Given the description of an element on the screen output the (x, y) to click on. 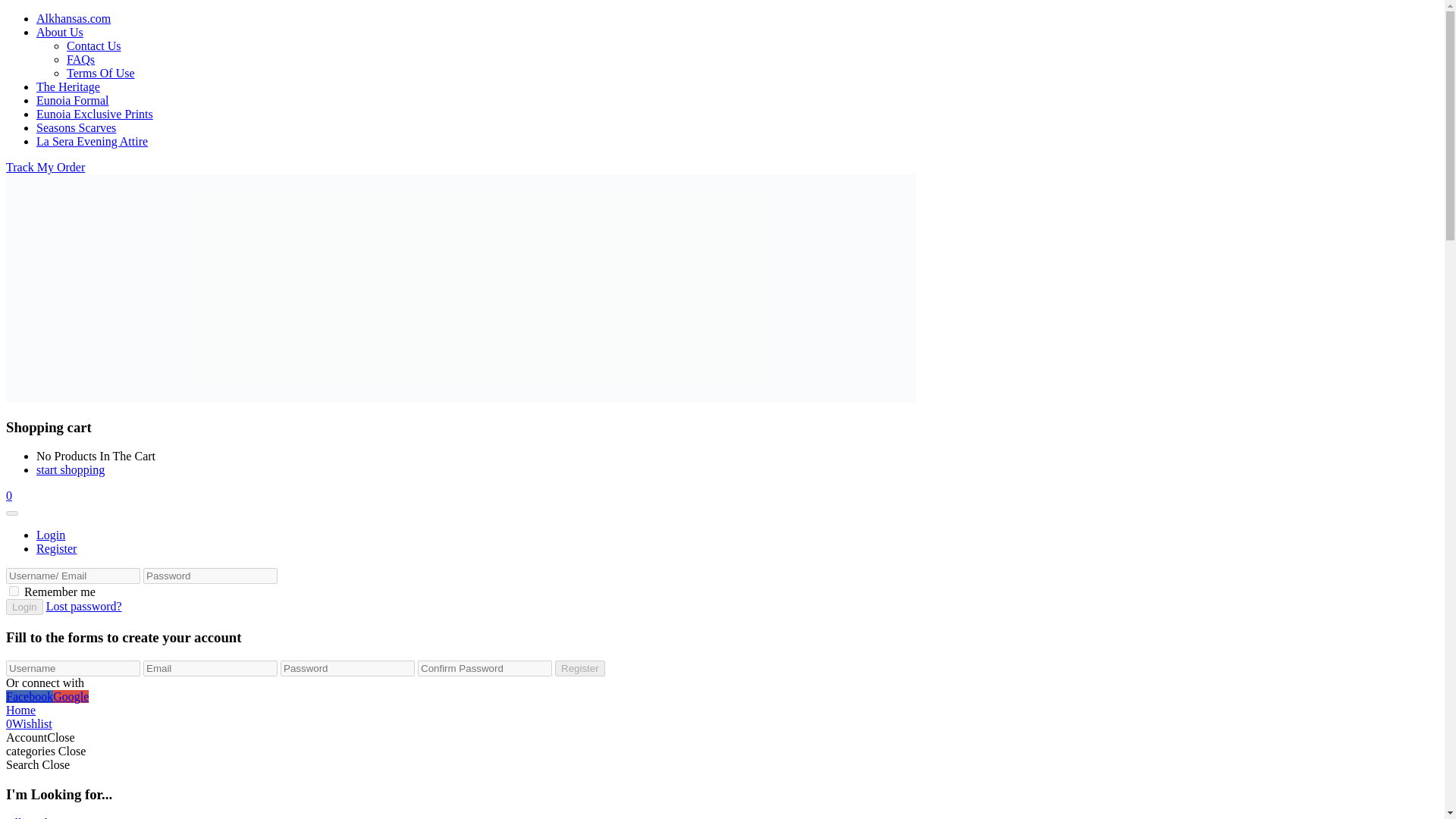
La Sera Evening Attire (92, 141)
Eunoia Formal (72, 100)
Google (70, 696)
AccountClose (40, 737)
FAQs (80, 59)
Login (24, 606)
Alkhansas.com (73, 18)
categories Close (45, 750)
Register (579, 668)
Search Close (37, 764)
